Given the description of an element on the screen output the (x, y) to click on. 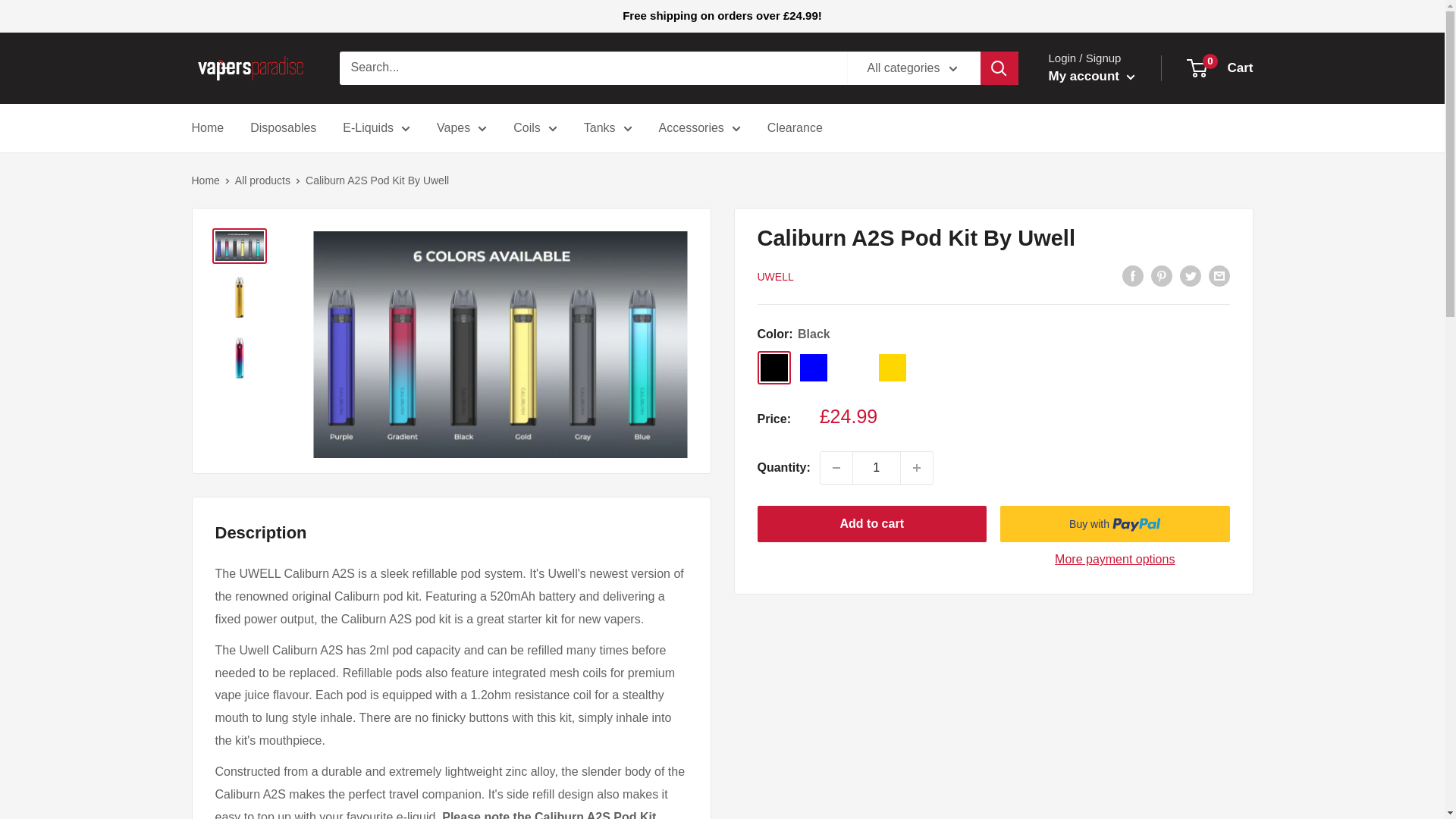
Increase quantity by 1 (917, 468)
Vapers Paradise Official (249, 67)
Gradient (852, 366)
Decrease quantity by 1 (836, 468)
Black (773, 366)
Gold (891, 366)
1 (876, 468)
Blue (813, 366)
